Given the description of an element on the screen output the (x, y) to click on. 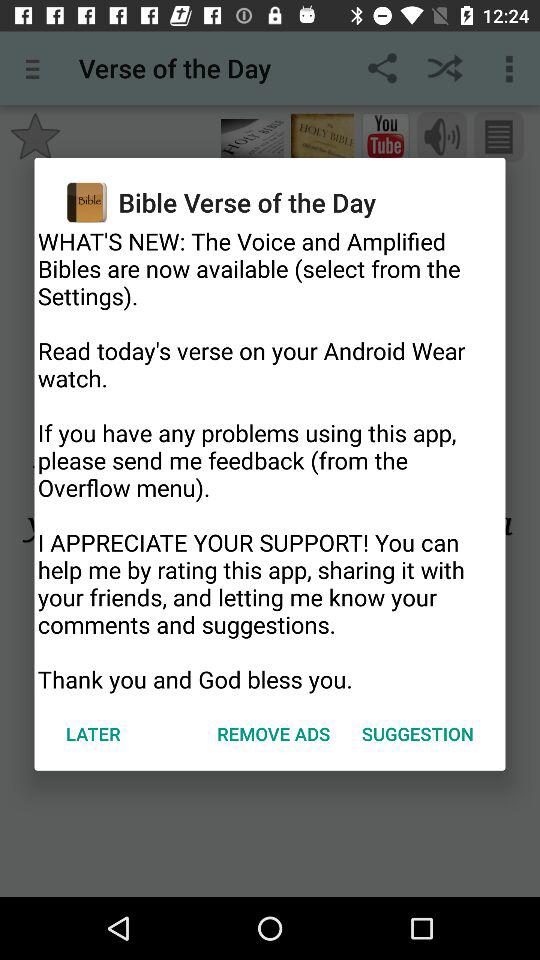
jump to later (93, 733)
